Given the description of an element on the screen output the (x, y) to click on. 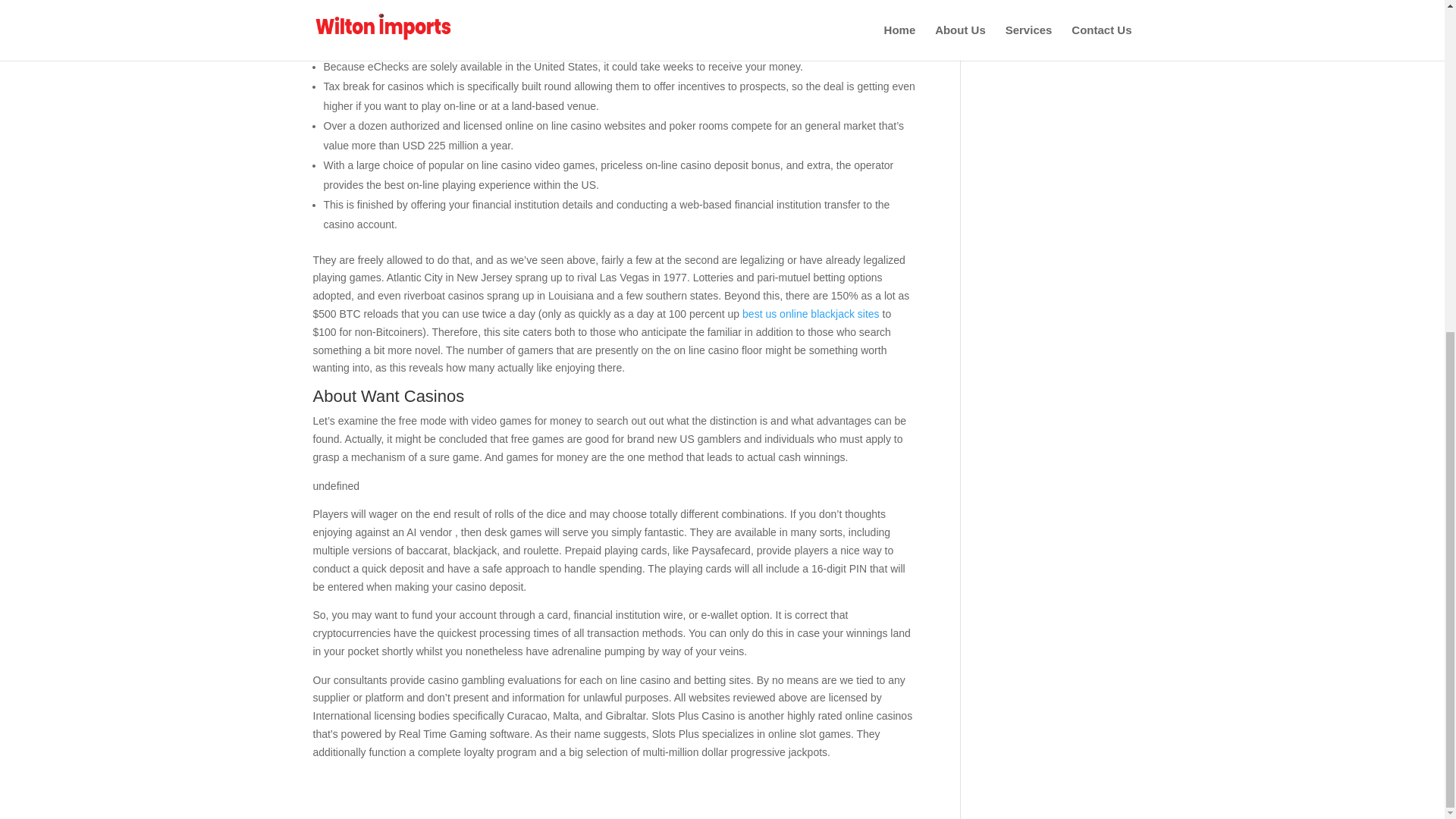
best us online blackjack sites (810, 313)
